Given the description of an element on the screen output the (x, y) to click on. 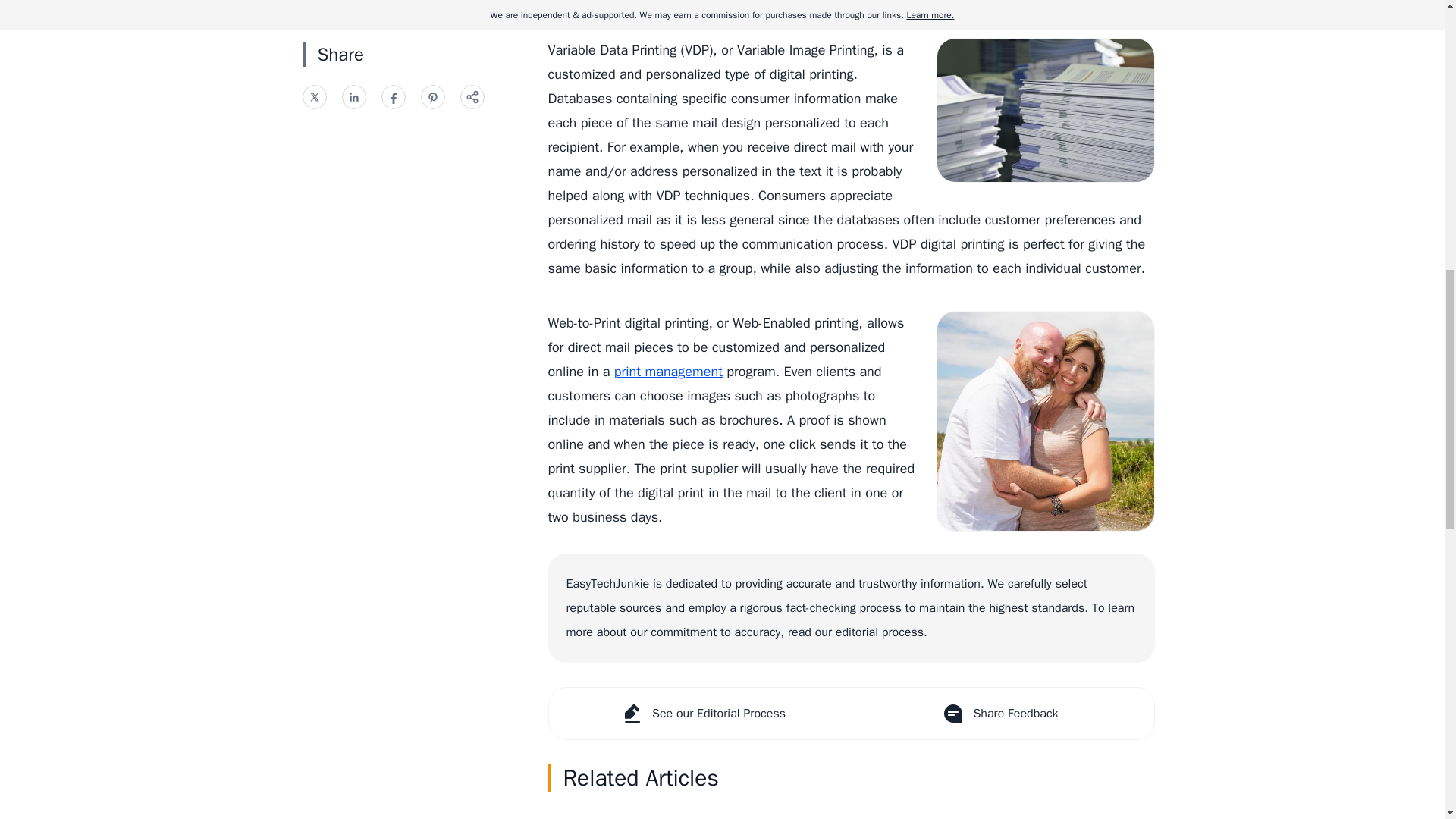
What Is Duplex Printing? (850, 811)
print management (668, 371)
Share Feedback (1001, 713)
See our Editorial Process (699, 713)
